Given the description of an element on the screen output the (x, y) to click on. 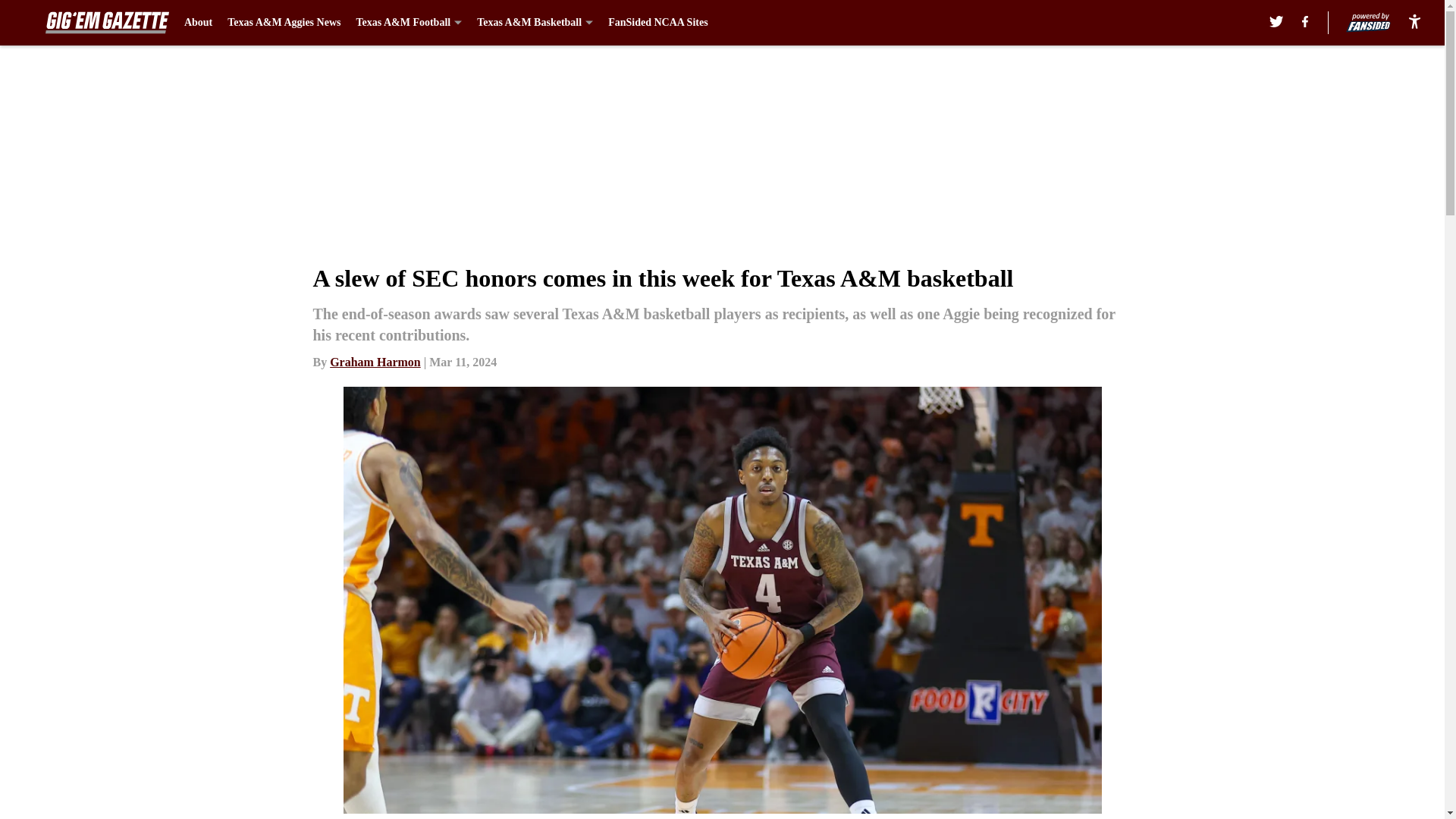
Graham Harmon (375, 361)
FanSided NCAA Sites (657, 22)
About (198, 22)
